Given the description of an element on the screen output the (x, y) to click on. 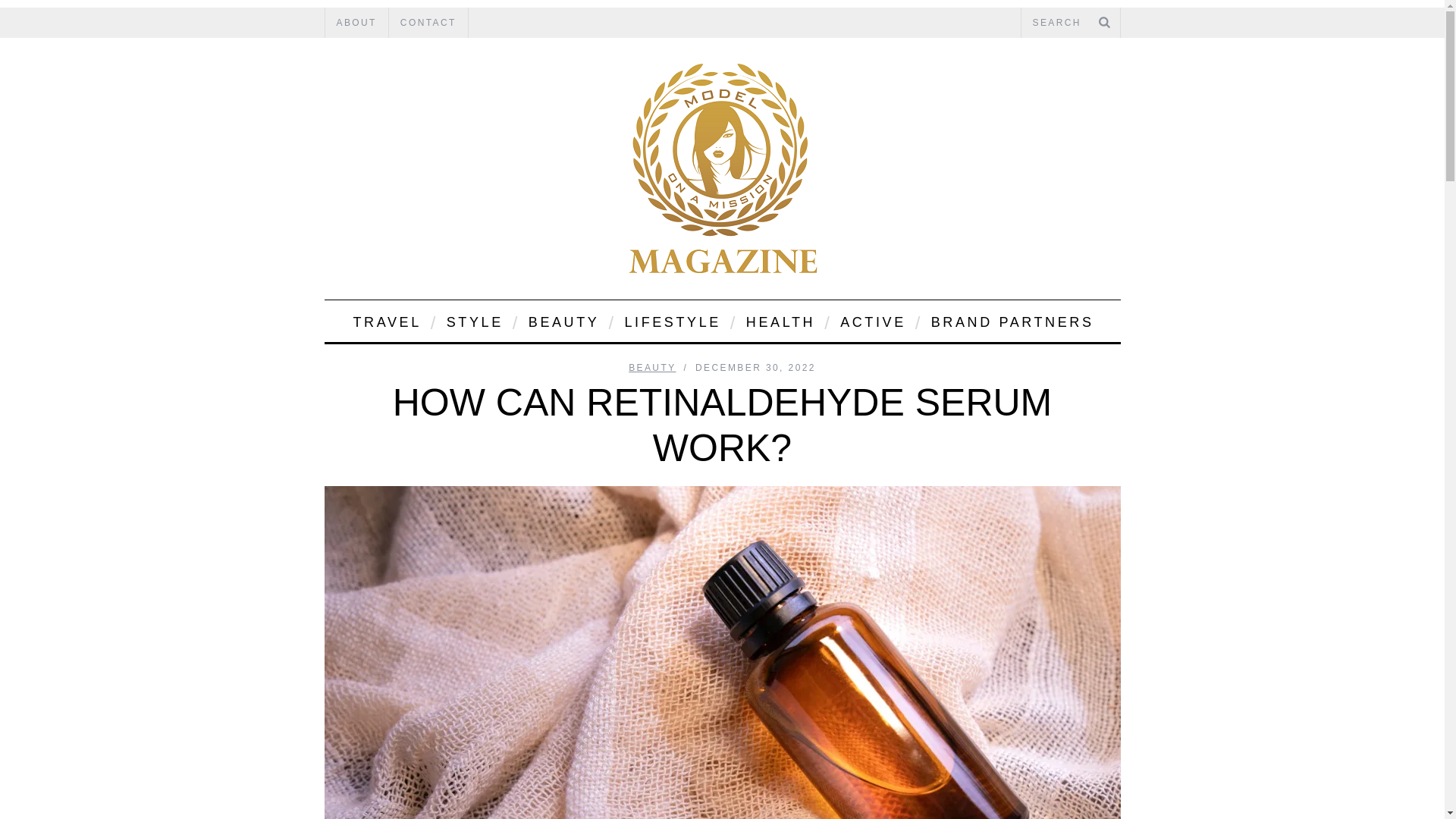
Search (1070, 22)
BEAUTY (562, 321)
LIFESTYLE (670, 321)
modelonamission  -  (721, 168)
STYLE (473, 321)
HEALTH (779, 321)
CONTACT (427, 22)
ABOUT (355, 22)
